Given the description of an element on the screen output the (x, y) to click on. 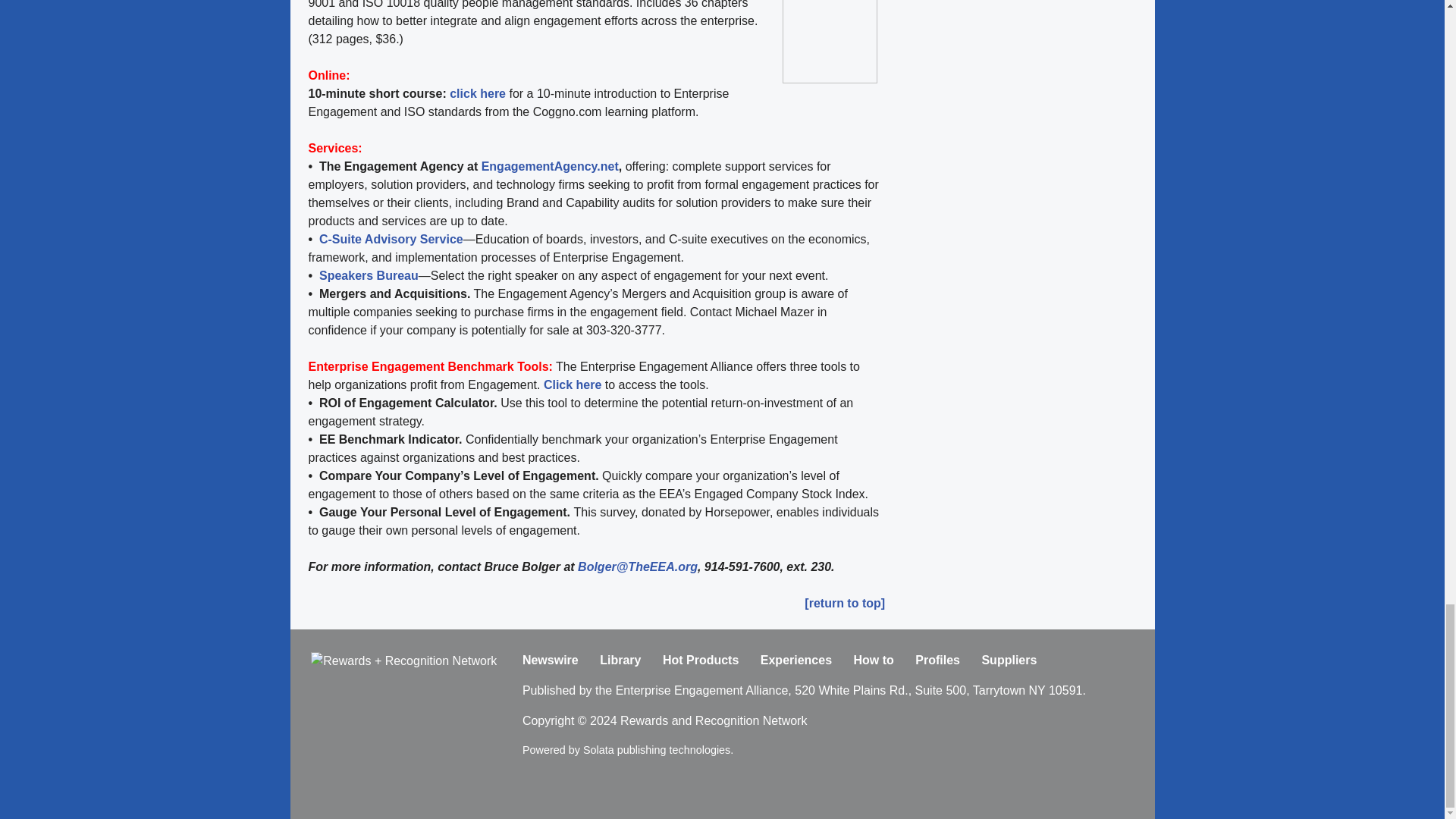
C-Suite Advisory Service (390, 238)
click here (477, 92)
Speakers Bureau (368, 275)
EngagementAgency.net (549, 165)
